Given the description of an element on the screen output the (x, y) to click on. 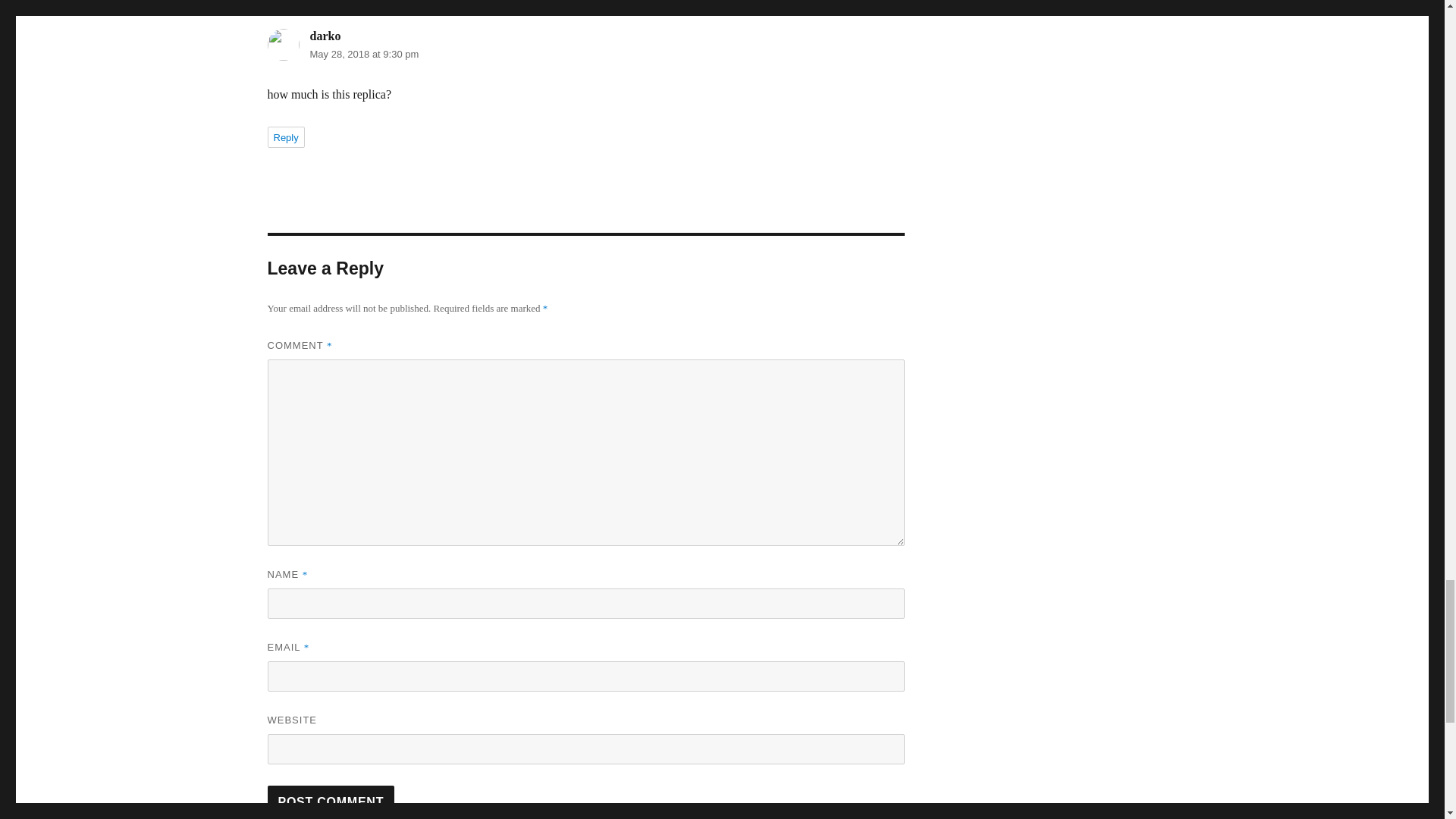
Post Comment (330, 801)
Post Comment (330, 801)
Reply (285, 137)
May 28, 2018 at 9:30 pm (363, 53)
